Given the description of an element on the screen output the (x, y) to click on. 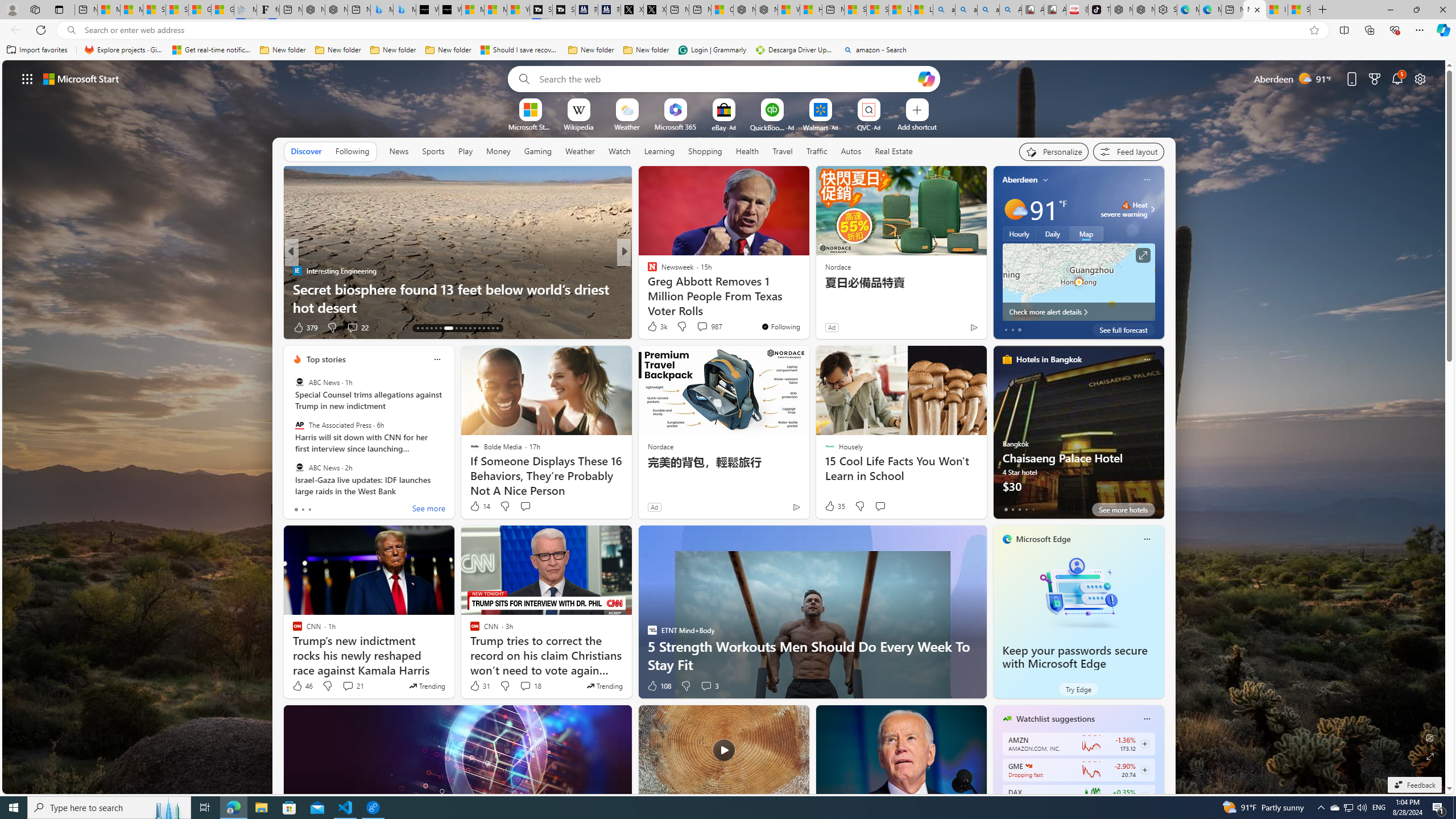
Enter your search term (726, 78)
Aberdeen (1019, 179)
My location (1045, 179)
Try Edge (1078, 689)
Larger map  (1077, 282)
Debunking 14 Common Myths About Strength Training (807, 298)
AutomationID: tab-29 (497, 328)
